Given the description of an element on the screen output the (x, y) to click on. 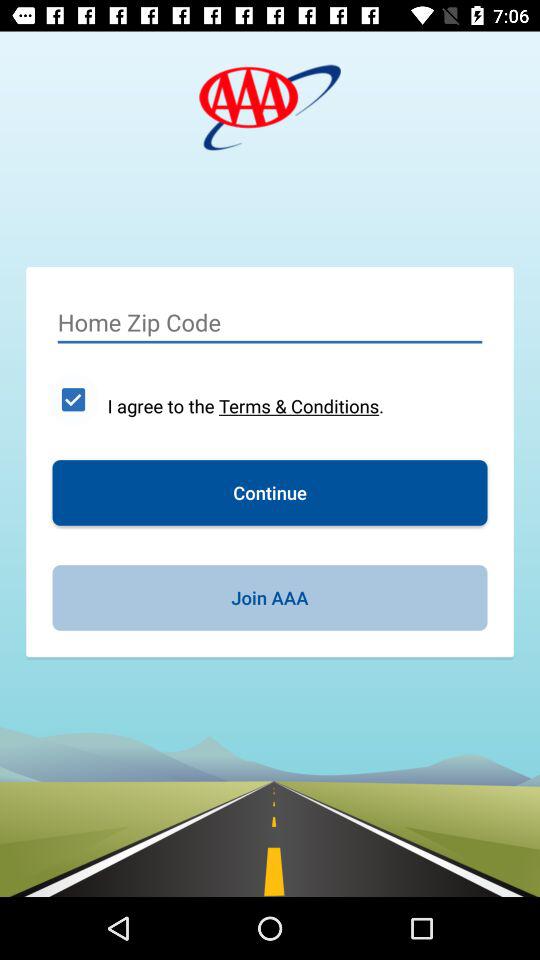
select join aaa (269, 597)
